Given the description of an element on the screen output the (x, y) to click on. 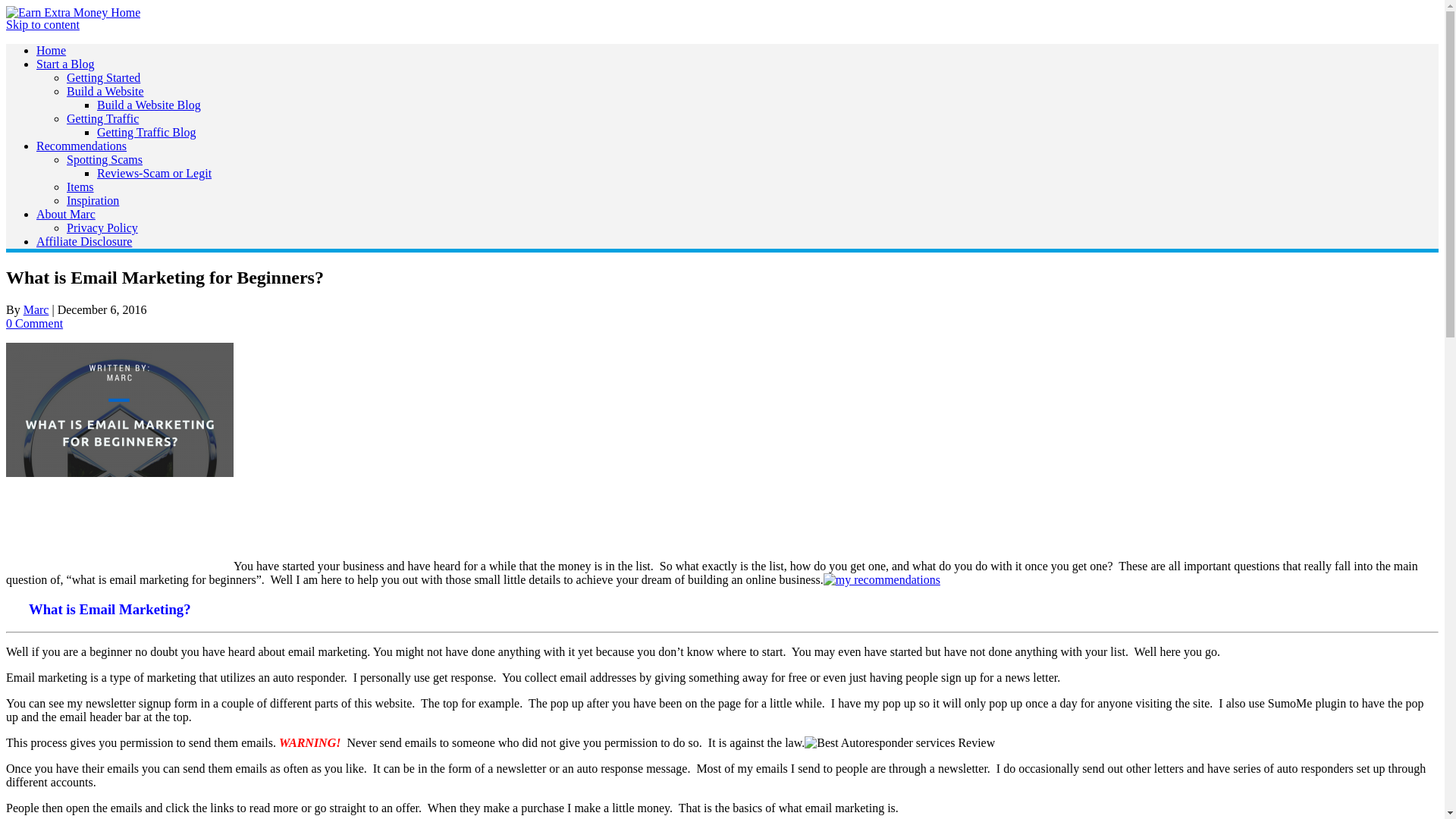
Reviews-Scam or Legit (154, 173)
Skip to content (42, 24)
Items (80, 186)
Build a Website (105, 91)
Affiliate Disclosure (84, 241)
Skip to content (42, 24)
Privacy Policy (102, 227)
Getting Started (102, 77)
Start a Blog (65, 63)
Recommendations (81, 145)
